Given the description of an element on the screen output the (x, y) to click on. 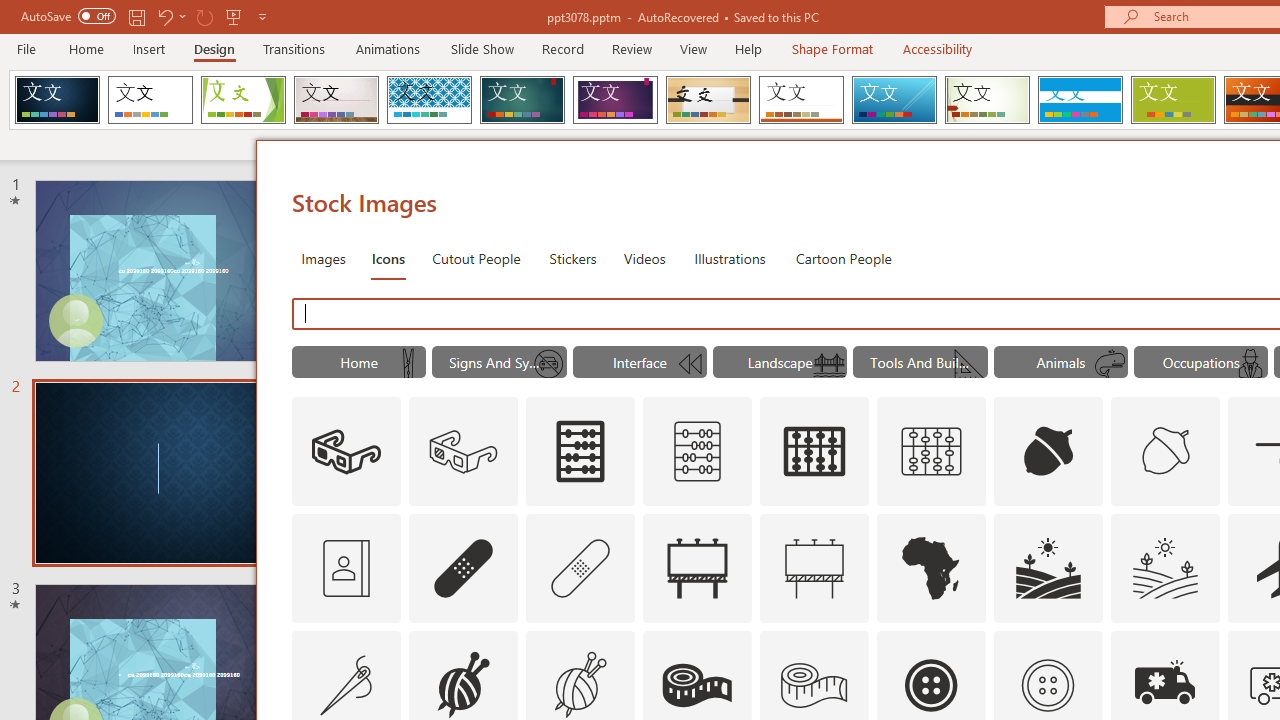
AutomationID: Icons_Abacus1_M (931, 452)
Cartoon People (843, 258)
"Tools And Building" Icons. (920, 362)
Illustrations (729, 258)
"Occupations" Icons. (1201, 362)
AutomationID: Icons_Beginning_M (688, 364)
AutomationID: Icons_Whale_M (1109, 364)
Thumbnail (1204, 645)
